Given the description of an element on the screen output the (x, y) to click on. 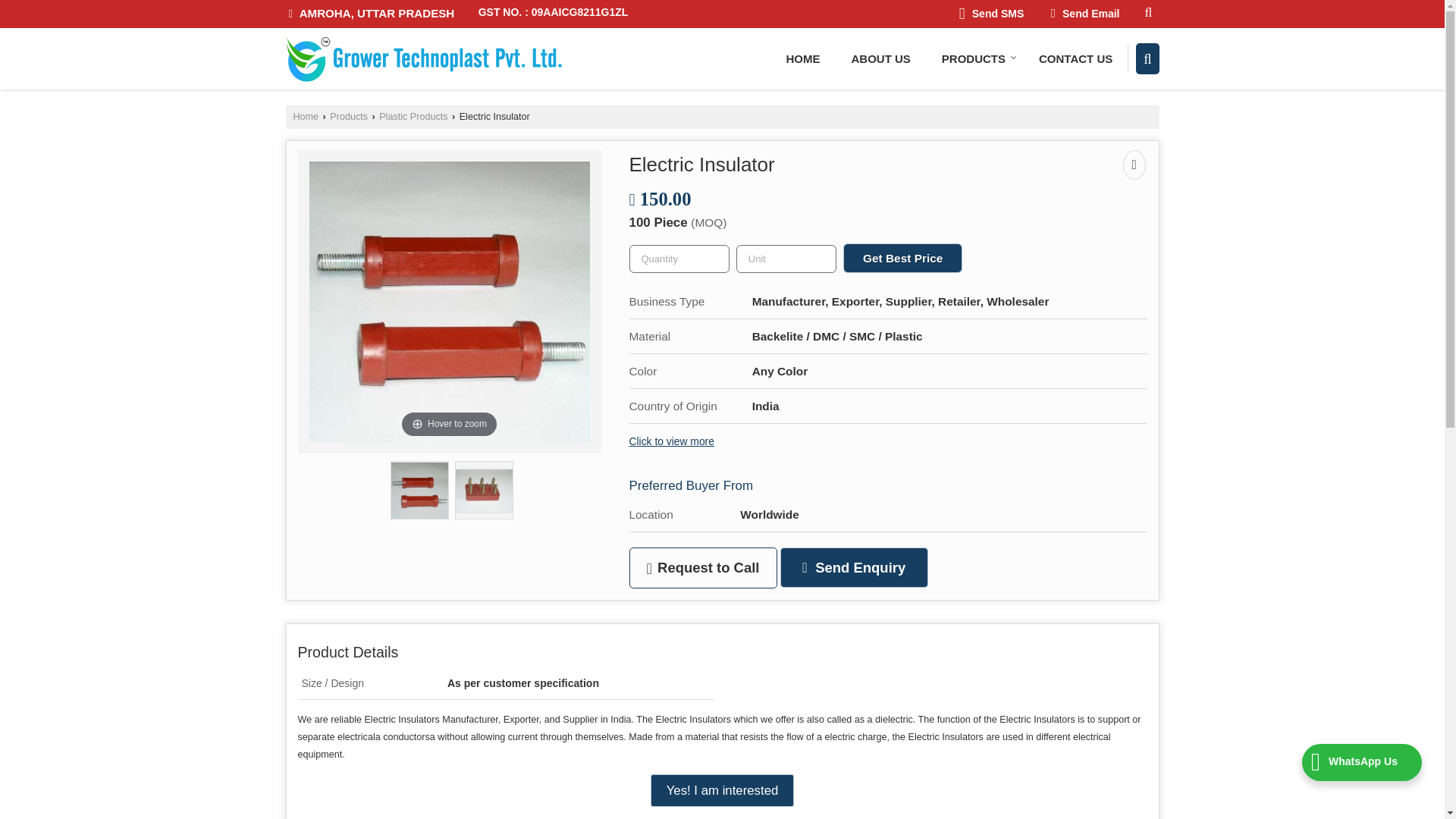
Send Email (1085, 14)
About Us (879, 58)
Products (974, 58)
Send SMS (991, 14)
ABOUT US (879, 58)
PRODUCTS (974, 58)
Grower Technoplast Pvt. Ltd. (422, 58)
Home (802, 58)
HOME (802, 58)
Grower Technoplast Pvt. Ltd. (422, 58)
